Given the description of an element on the screen output the (x, y) to click on. 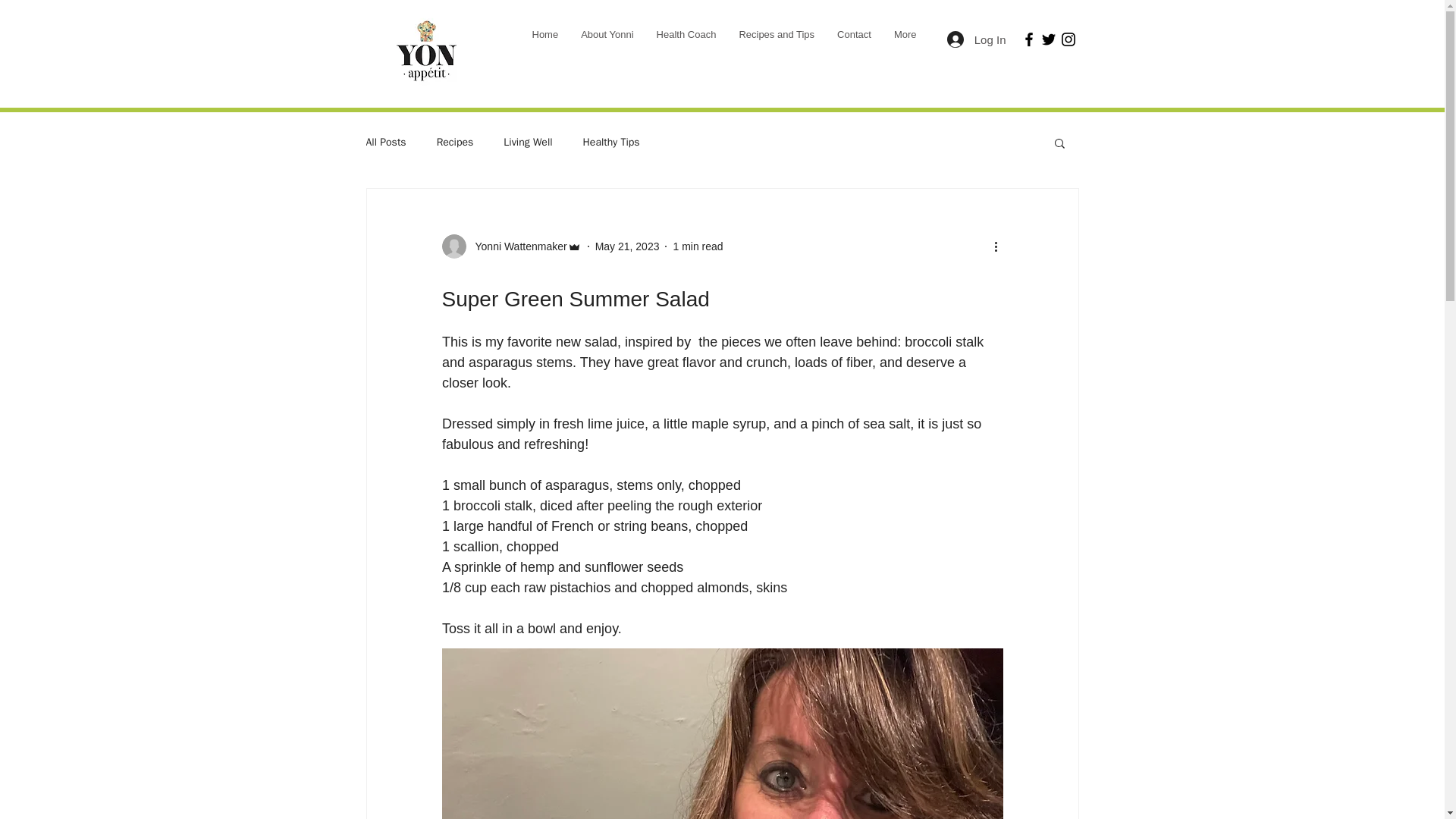
Log In (976, 39)
Health Coach (686, 38)
Yonni Wattenmaker (515, 245)
Recipes (455, 142)
Healthy Tips (611, 142)
1 min read (697, 245)
All Posts (385, 142)
About Yonni (607, 38)
yonappetit.jpg (425, 53)
Home (544, 38)
